Given the description of an element on the screen output the (x, y) to click on. 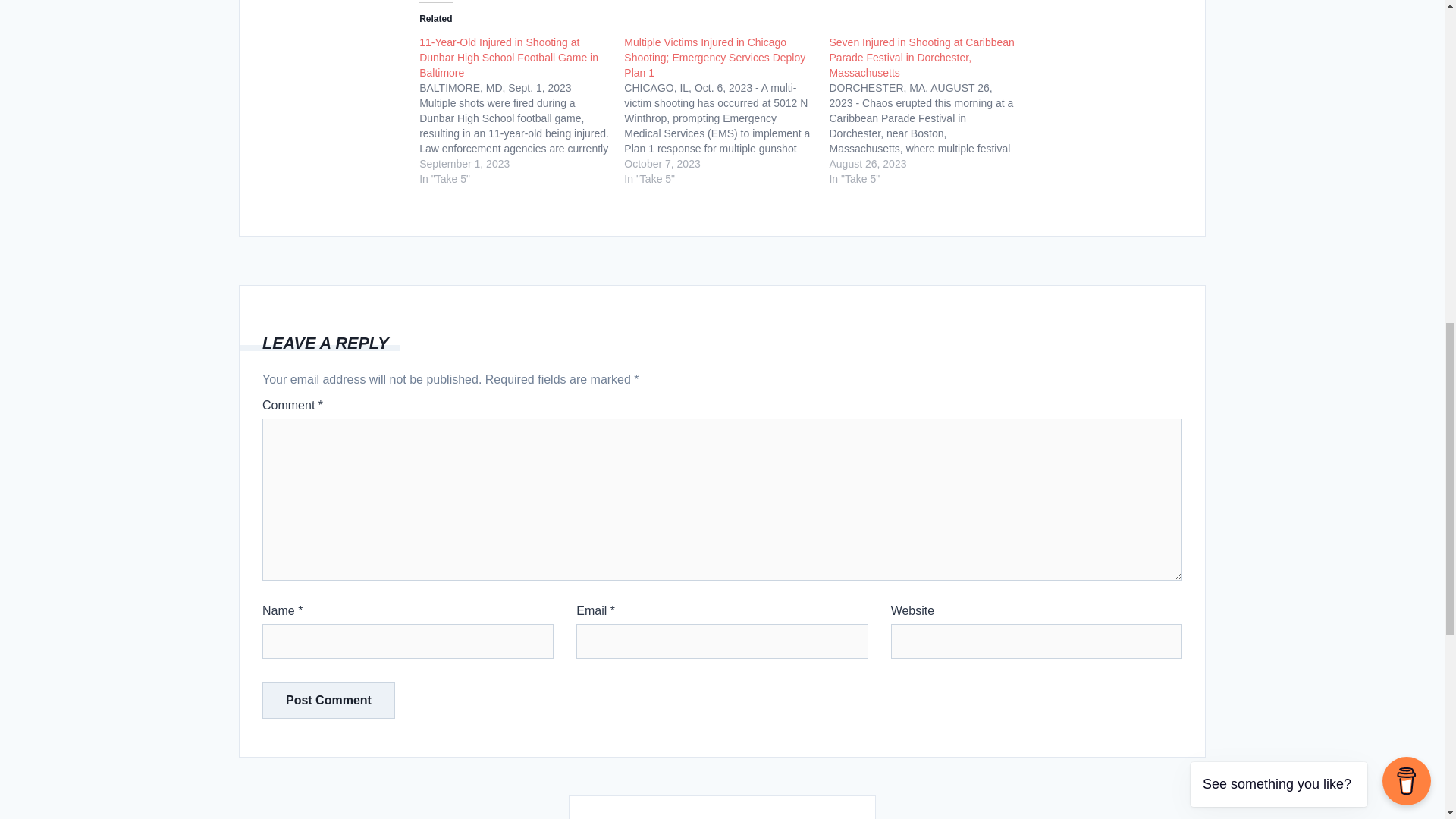
Post Comment (328, 700)
Post Comment (328, 700)
